Given the description of an element on the screen output the (x, y) to click on. 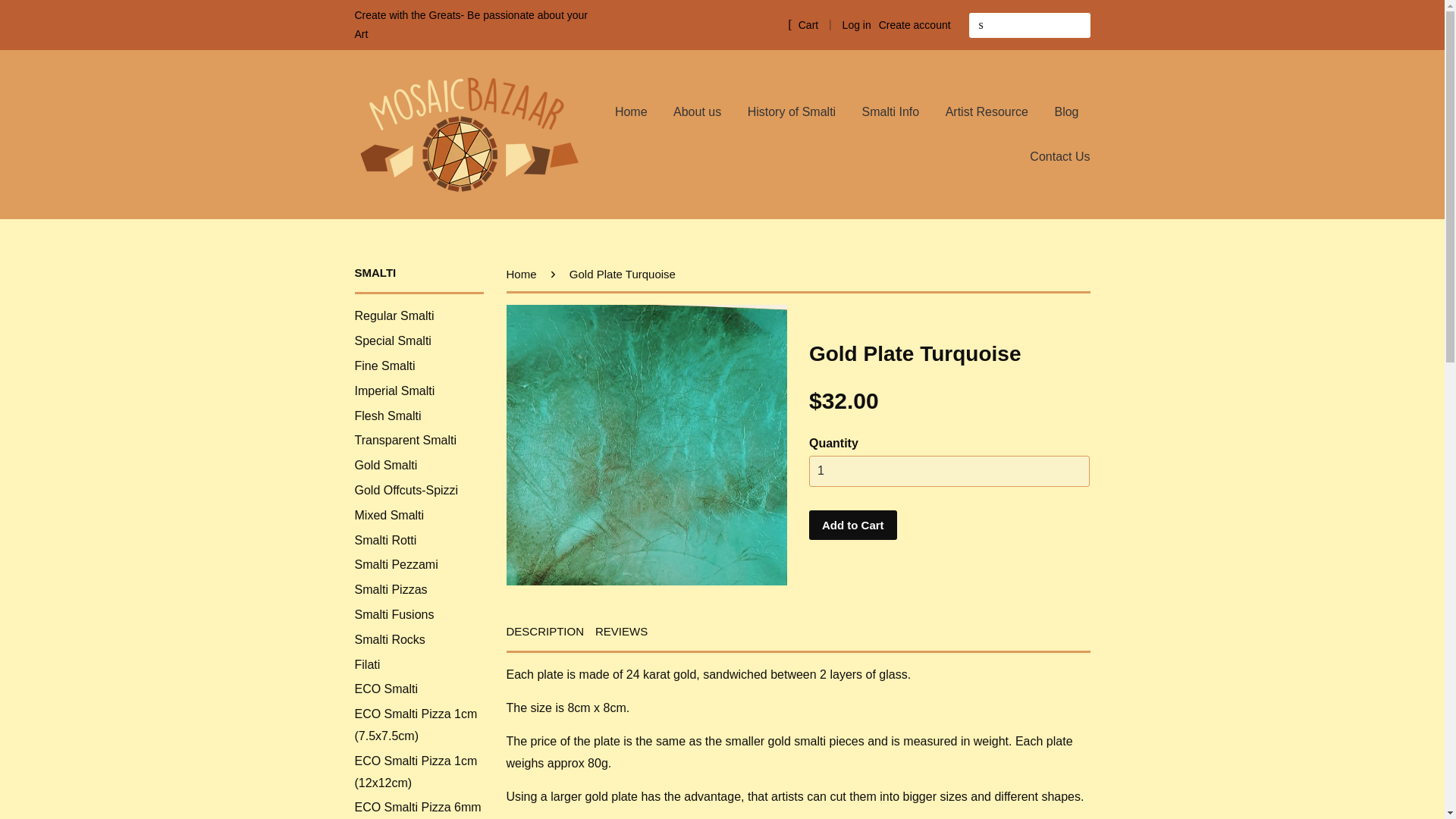
1 (949, 470)
Search (980, 25)
Cart (802, 24)
Log in (856, 24)
Create account (914, 24)
Back to the frontpage (523, 273)
